Given the description of an element on the screen output the (x, y) to click on. 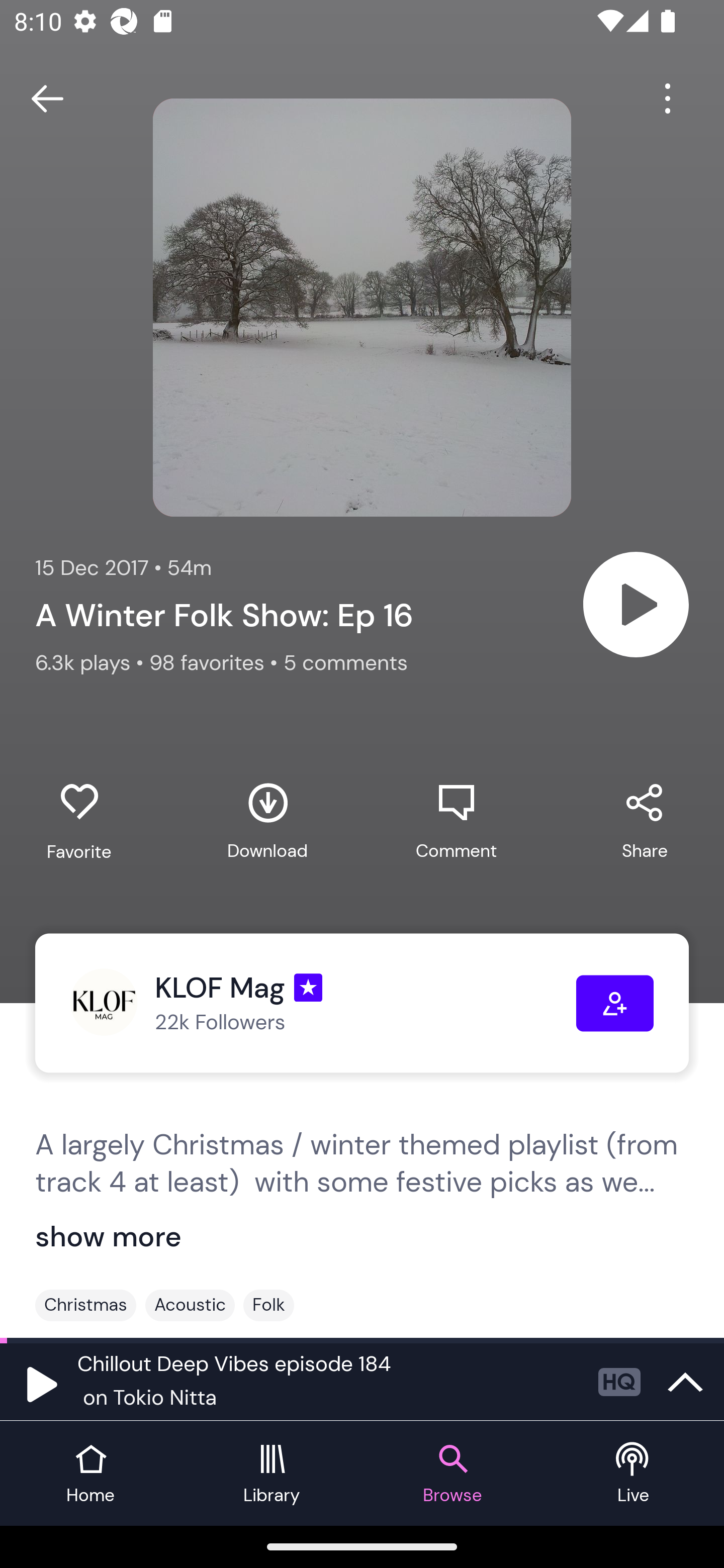
98 favorites •  (216, 662)
5 comments (345, 662)
Favorite (79, 821)
Download (267, 821)
Comment (455, 821)
Share (644, 821)
KLOF Mag, 22k Followers KLOF Mag 22k Followers (323, 1003)
Follow (614, 1003)
Christmas (85, 1304)
Acoustic (189, 1304)
Folk (268, 1304)
Home tab Home (90, 1473)
Library tab Library (271, 1473)
Browse tab Browse (452, 1473)
Live tab Live (633, 1473)
